Given the description of an element on the screen output the (x, y) to click on. 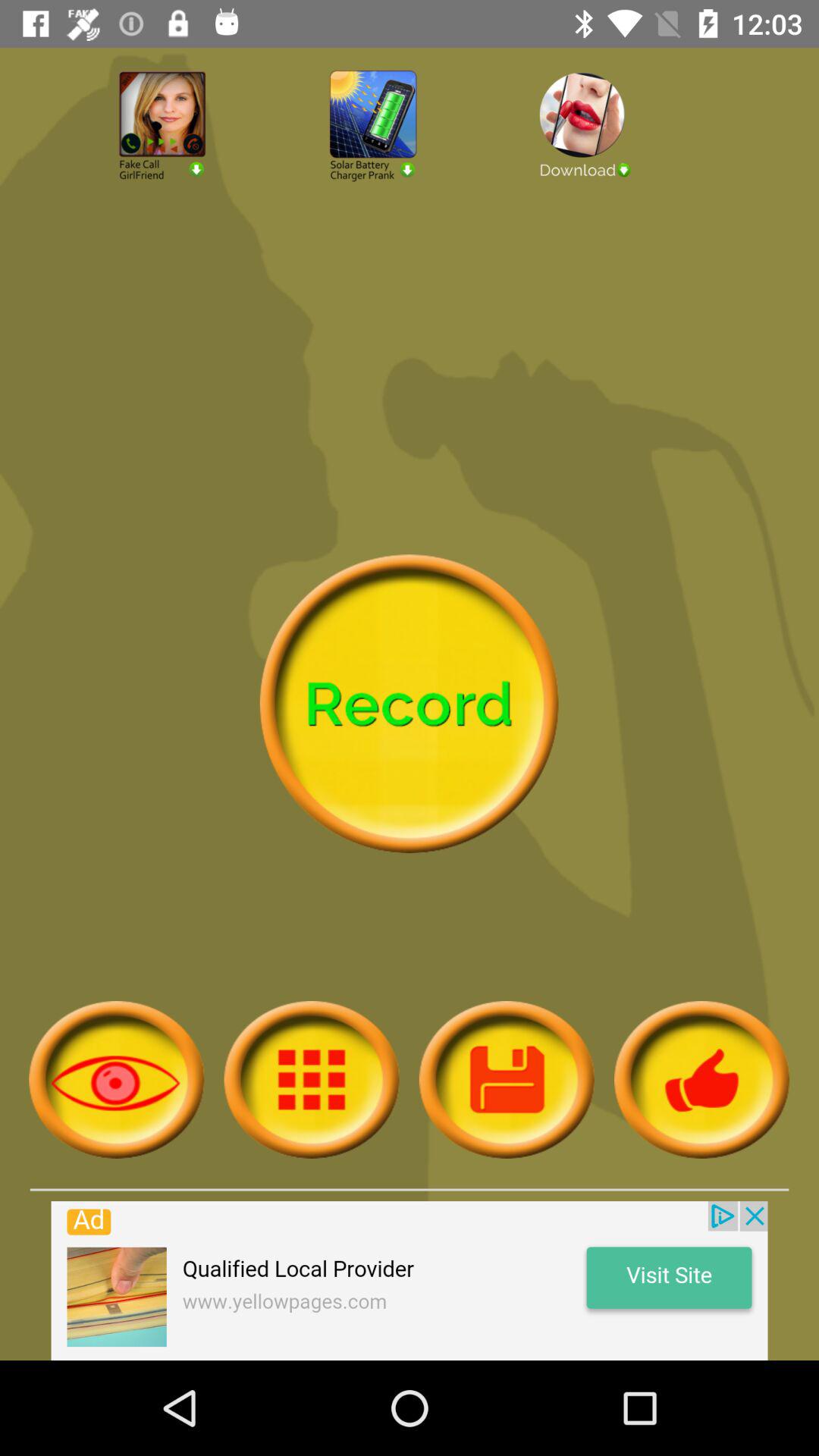
icon button (506, 1079)
